Given the description of an element on the screen output the (x, y) to click on. 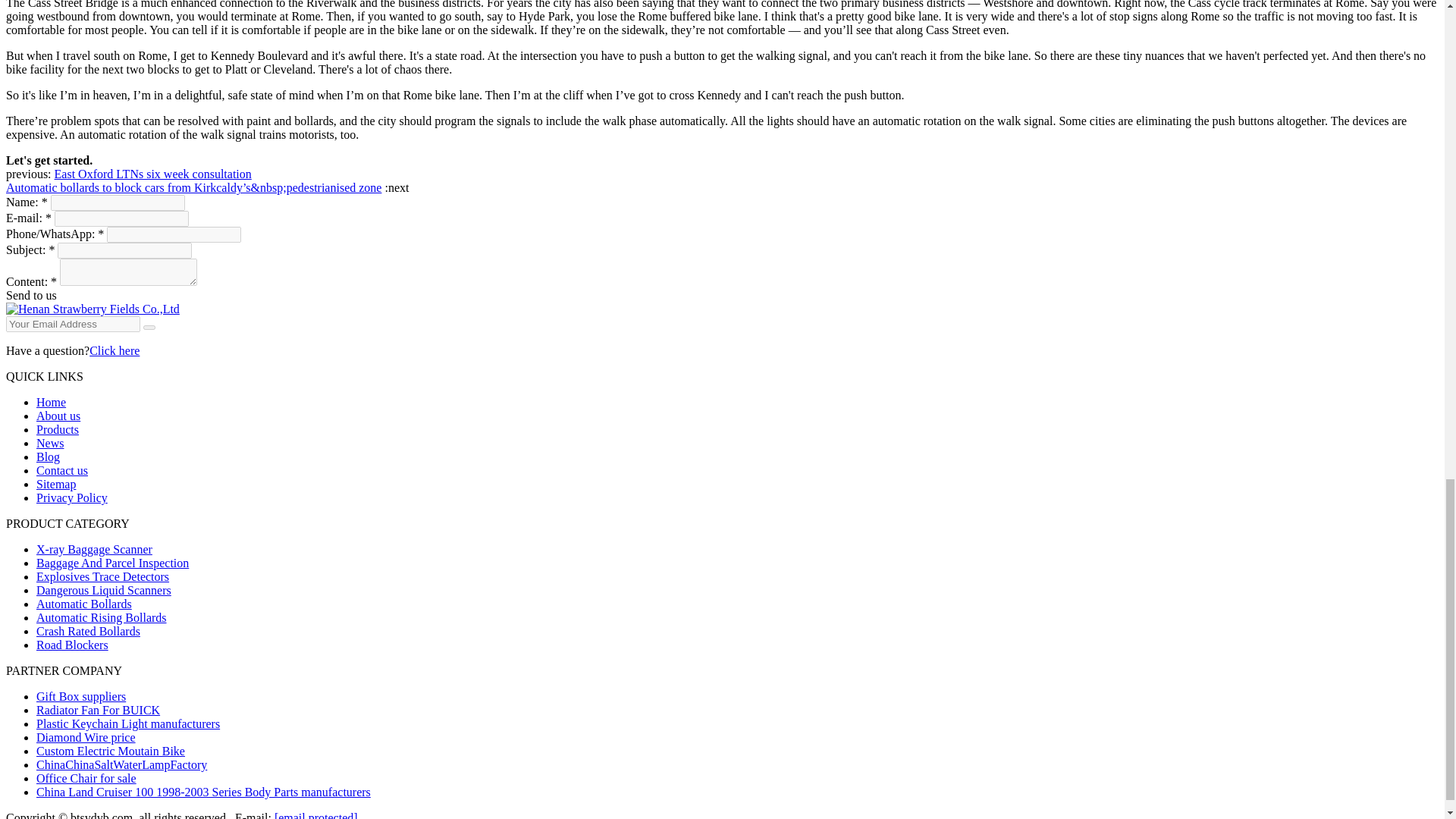
Email (148, 327)
East Oxford LTNs six week consultation (153, 173)
Henan Strawberry Fields Co.,Ltd (92, 308)
